Given the description of an element on the screen output the (x, y) to click on. 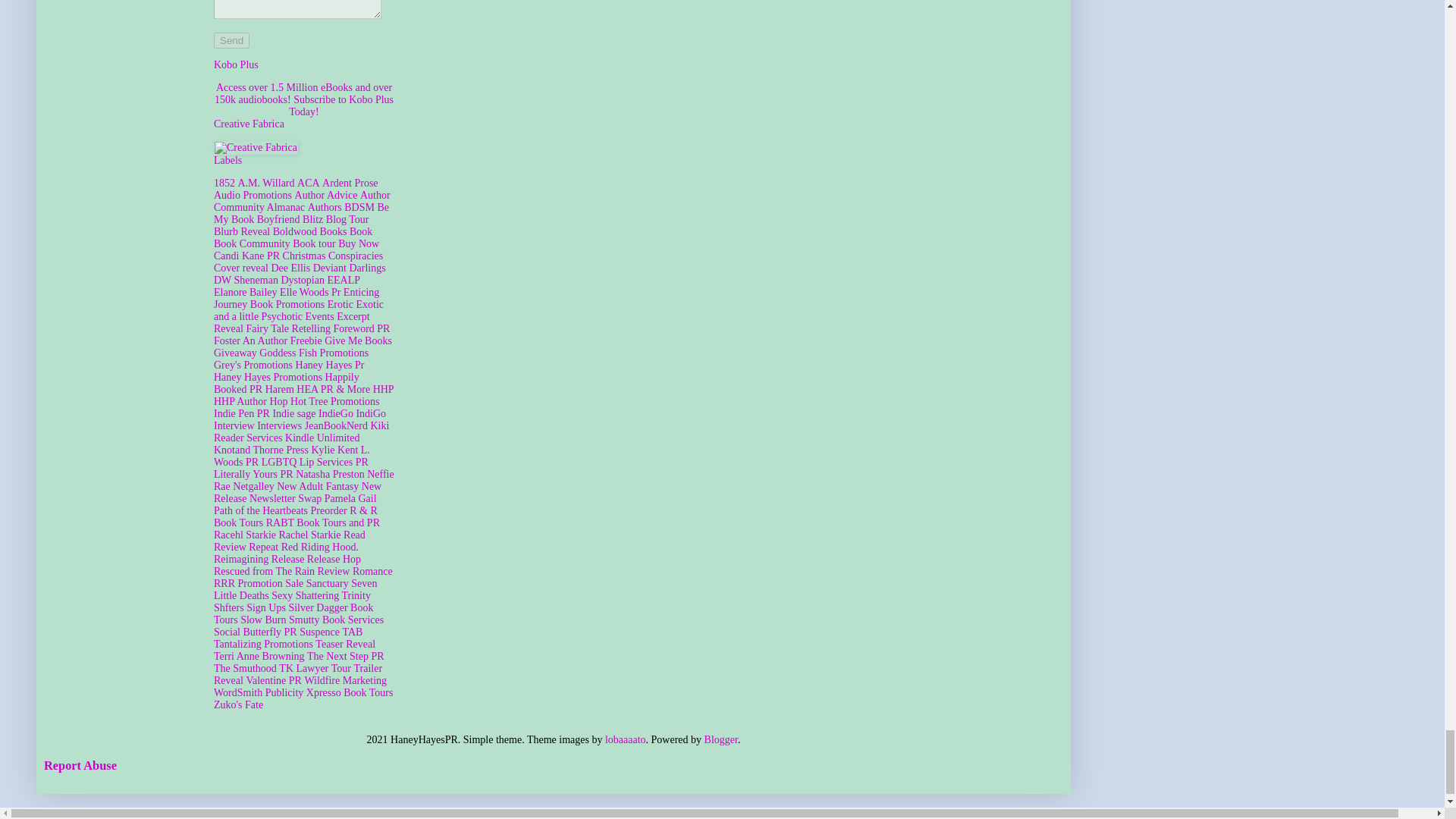
Send (231, 40)
